Given the description of an element on the screen output the (x, y) to click on. 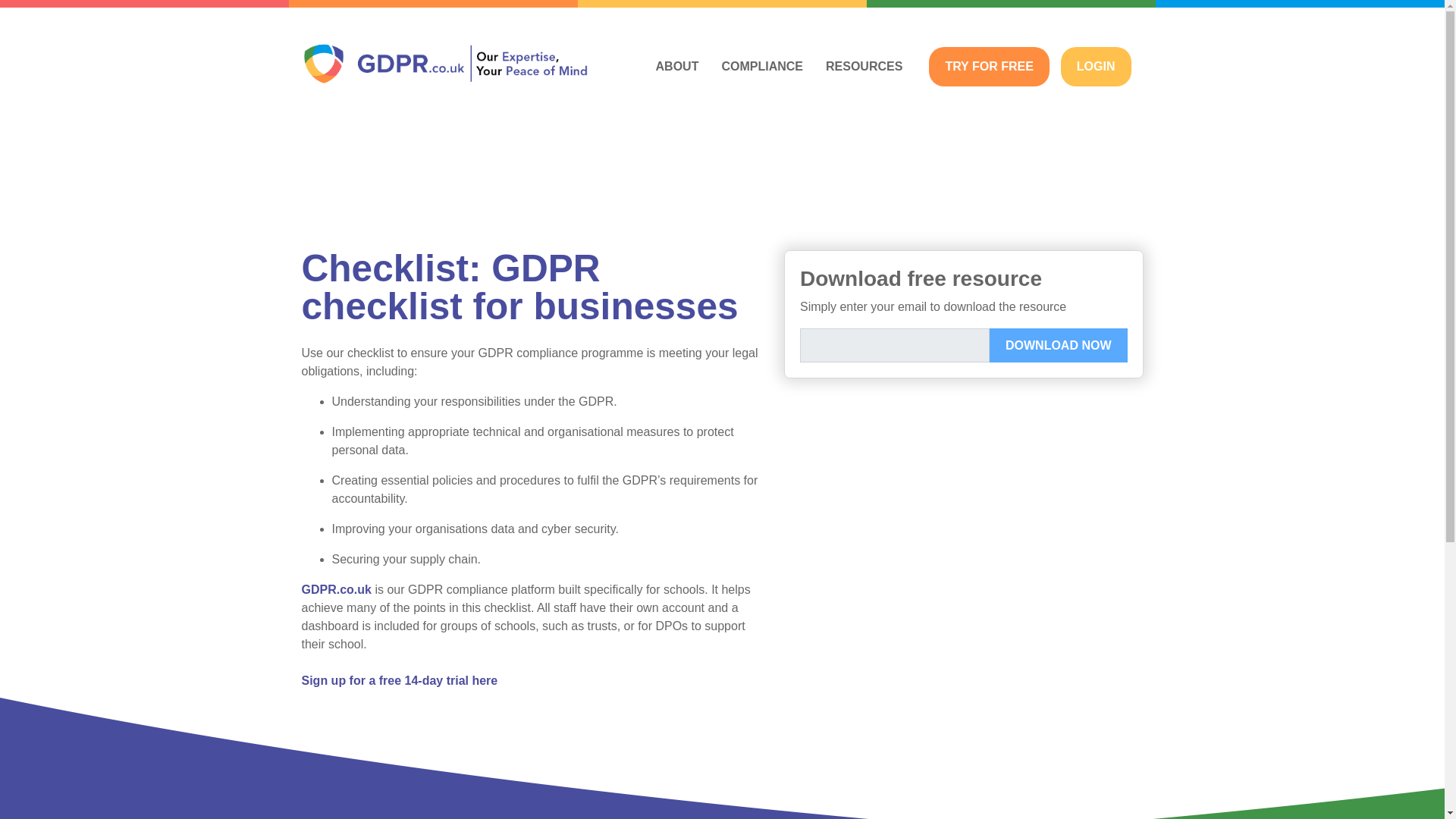
LOGIN (1096, 66)
ABOUT (677, 65)
TRY FOR FREE (988, 66)
RESOURCES (863, 65)
Download now (1058, 345)
COMPLIANCE (761, 65)
Sign up for a free 14-day trial here (399, 680)
Download now (1058, 345)
